Given the description of an element on the screen output the (x, y) to click on. 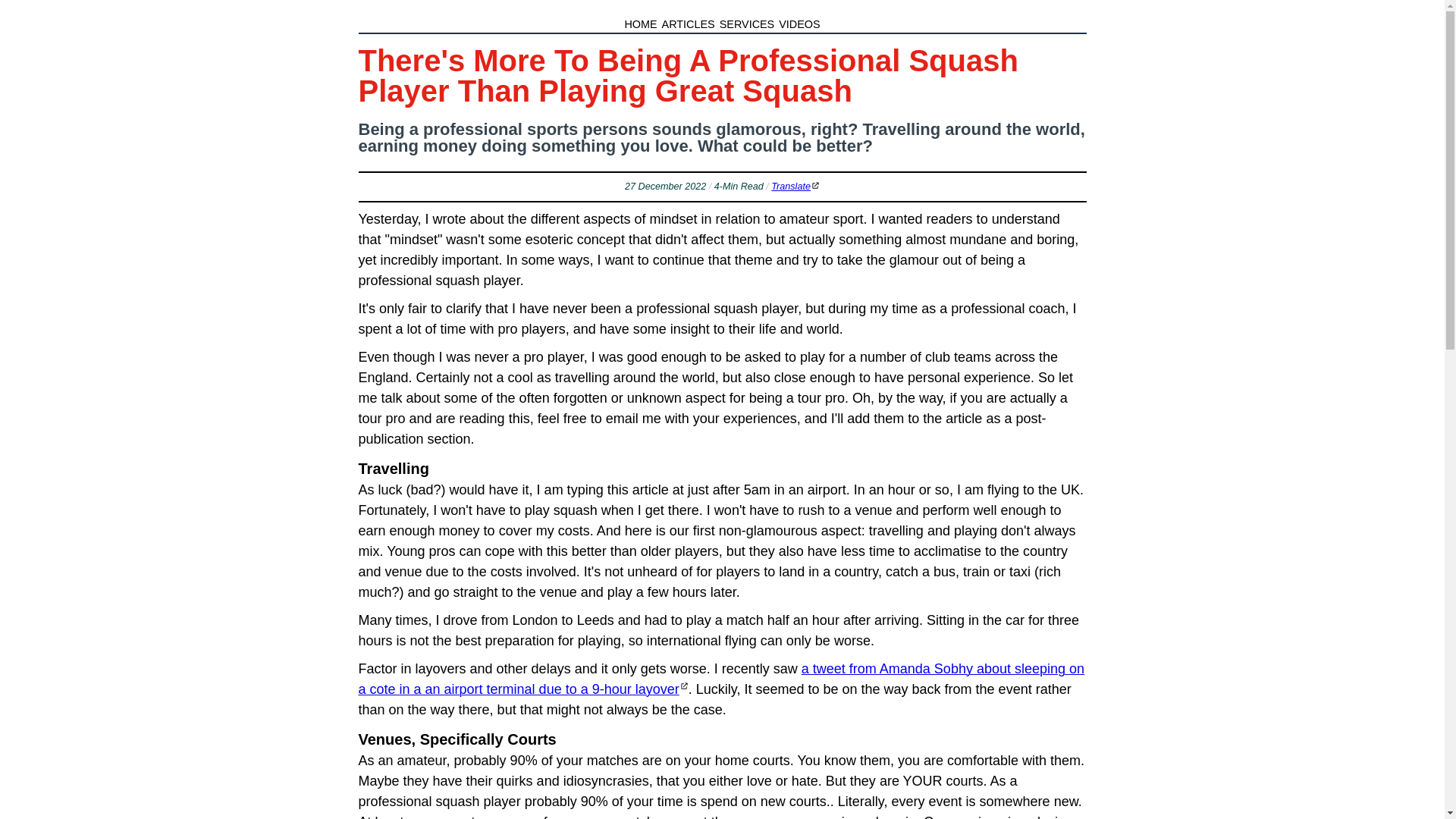
ARTICLES (688, 23)
HOME (640, 23)
